Given the description of an element on the screen output the (x, y) to click on. 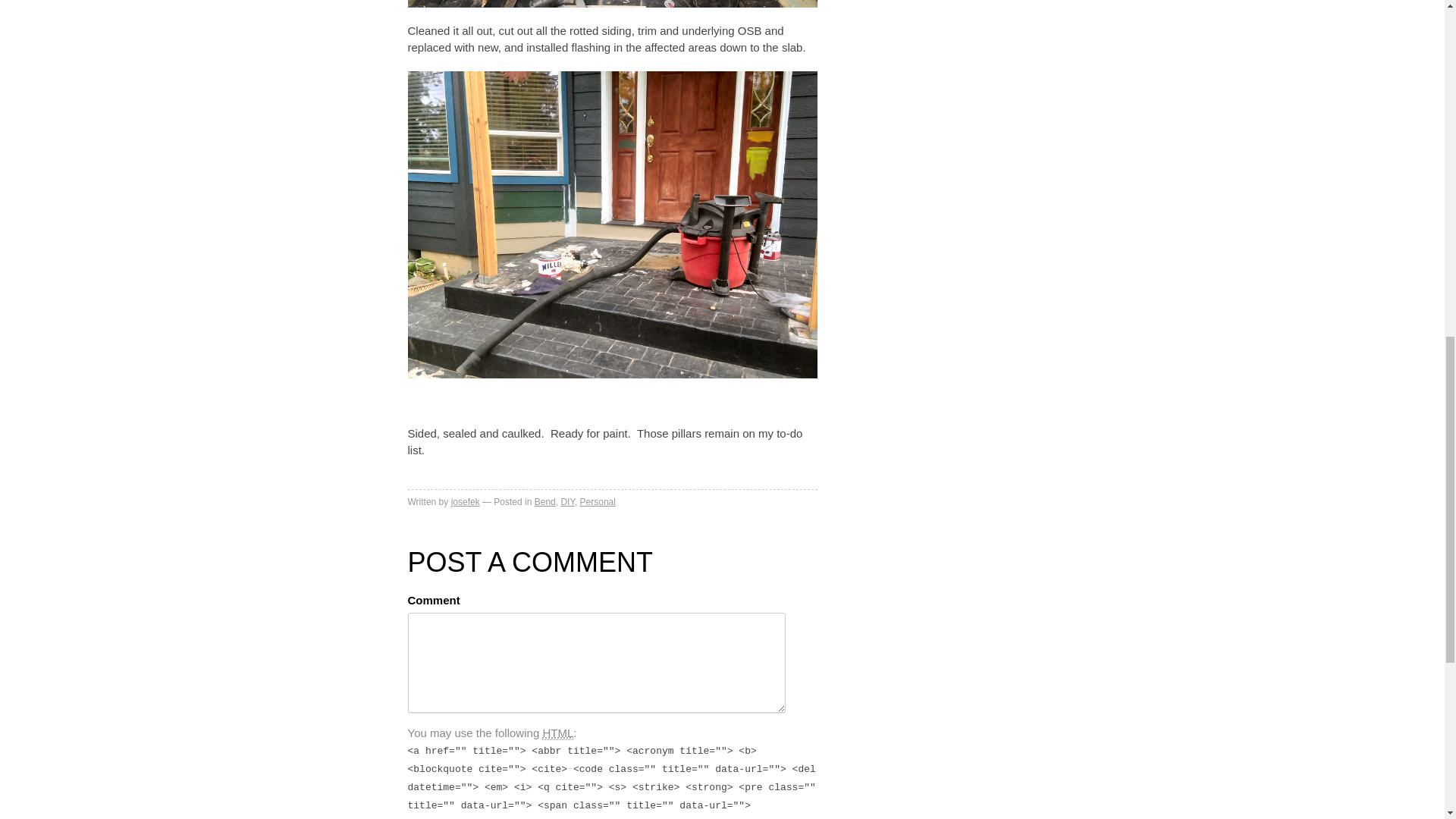
Personal (597, 501)
HyperText Markup Language (557, 733)
josefek (465, 501)
DIY (566, 501)
Bend (545, 501)
Posts by josefek (465, 501)
